Given the description of an element on the screen output the (x, y) to click on. 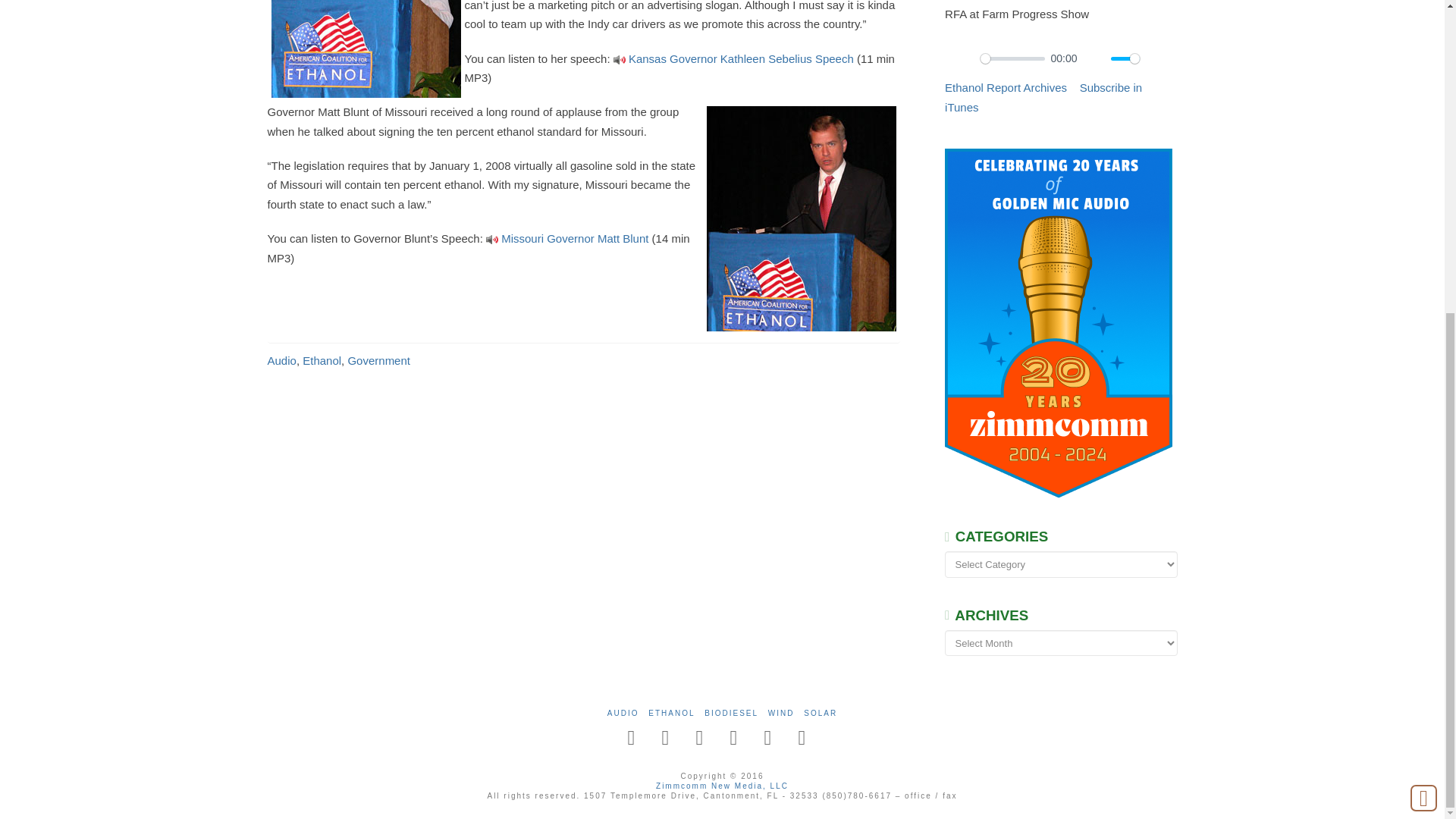
Ethanol (321, 359)
0 (1012, 58)
Missouri Governor Matt Blunt (573, 237)
Audio (280, 359)
Government (378, 359)
Kansas Governor Kathleen Sebelius Speech (740, 58)
1 (1125, 58)
